Given the description of an element on the screen output the (x, y) to click on. 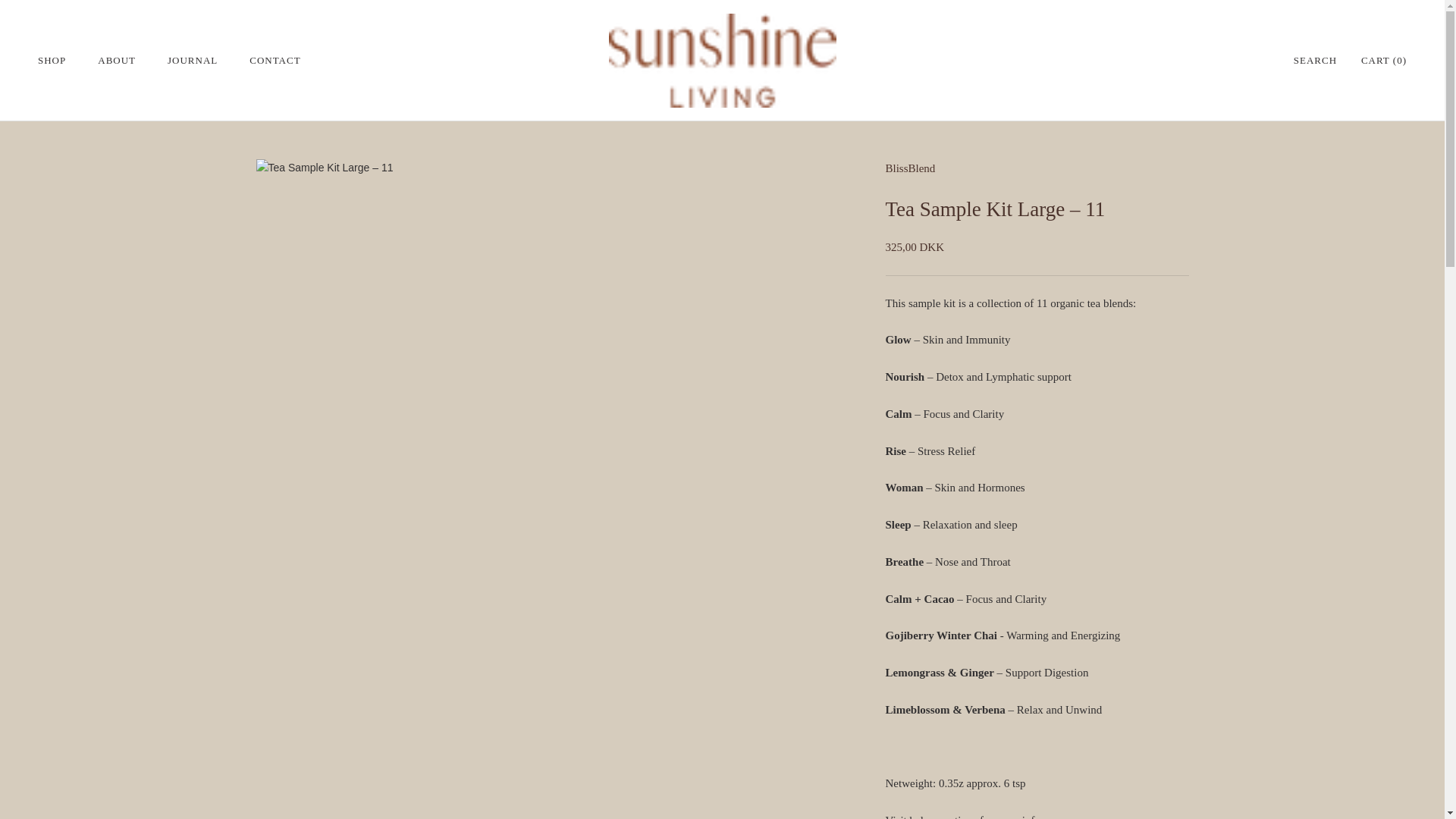
ABOUT (116, 60)
SHOP (51, 60)
